Given the description of an element on the screen output the (x, y) to click on. 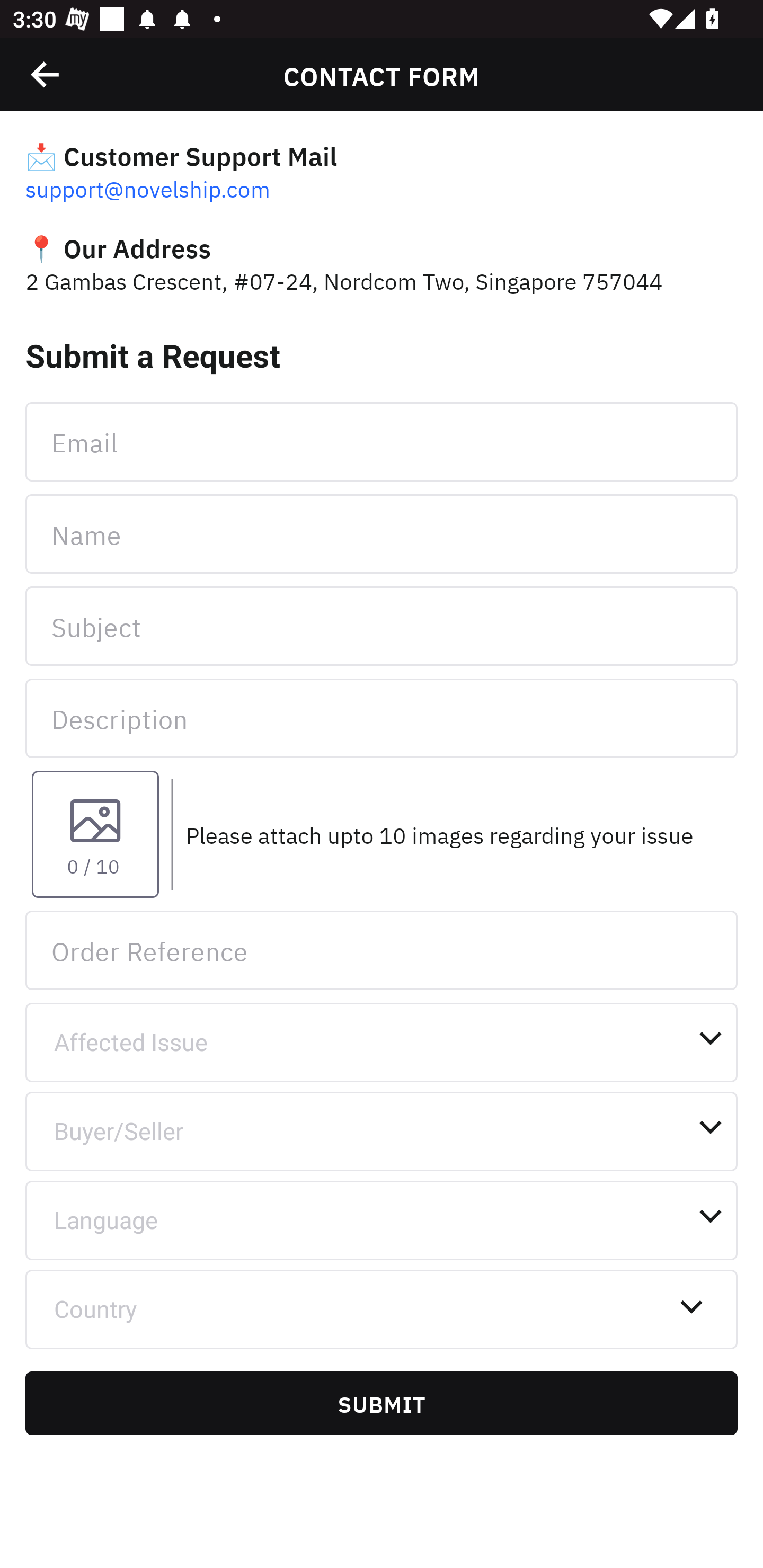
 (46, 74)
 (716, 74)
Email (381, 441)
Name (381, 533)
Subject (381, 626)
Description (381, 717)
 0 / 10 (95, 834)
Order Reference (381, 950)
Affected Issue  (381, 1042)
Buyer/Seller  (381, 1130)
Language  (381, 1220)
Country  (381, 1308)
SUBMIT (381, 1403)
